Given the description of an element on the screen output the (x, y) to click on. 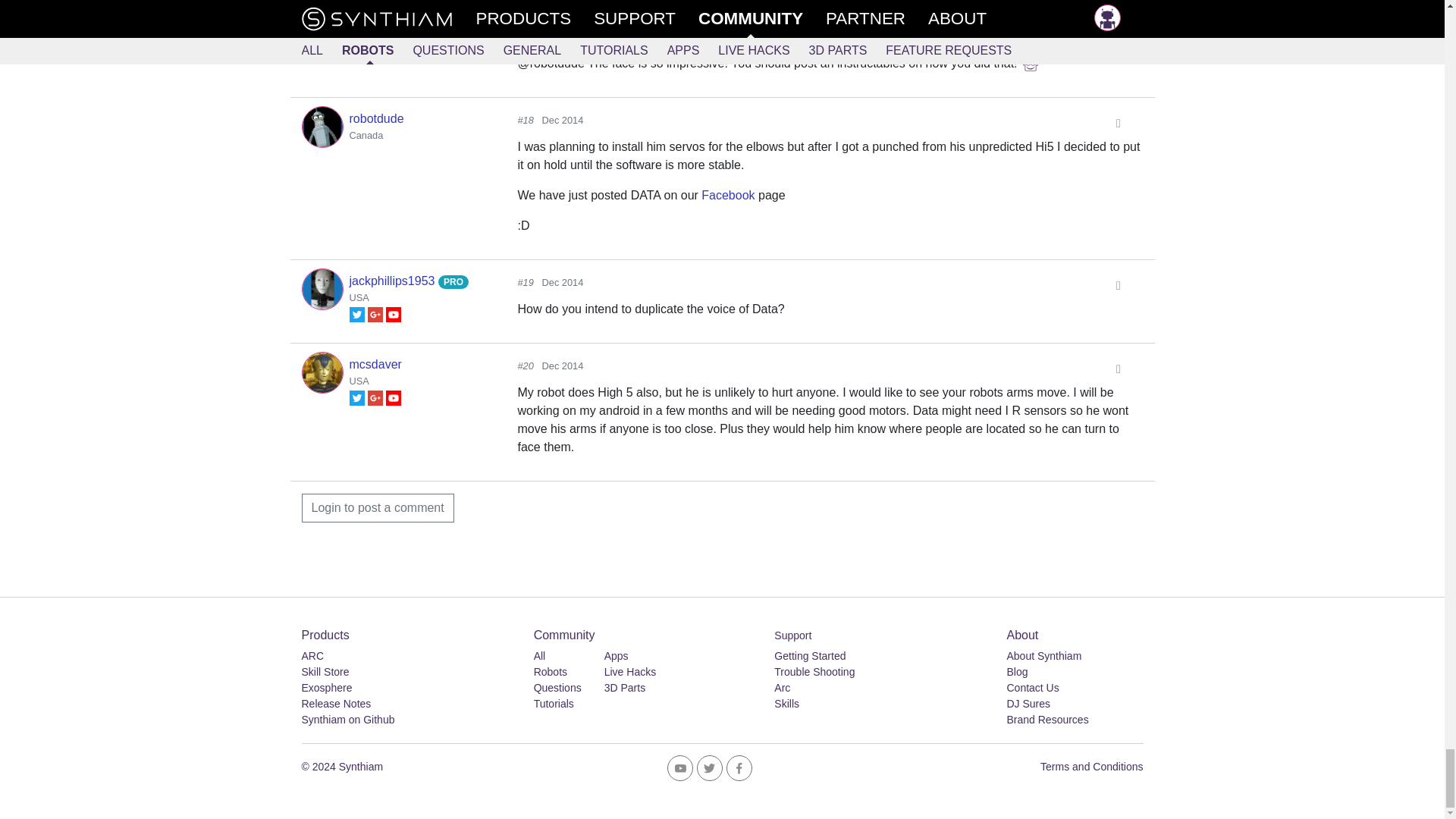
2014-12-12 12:22 UTC (562, 120)
2014-12-12 12:17 UTC (562, 36)
